Given the description of an element on the screen output the (x, y) to click on. 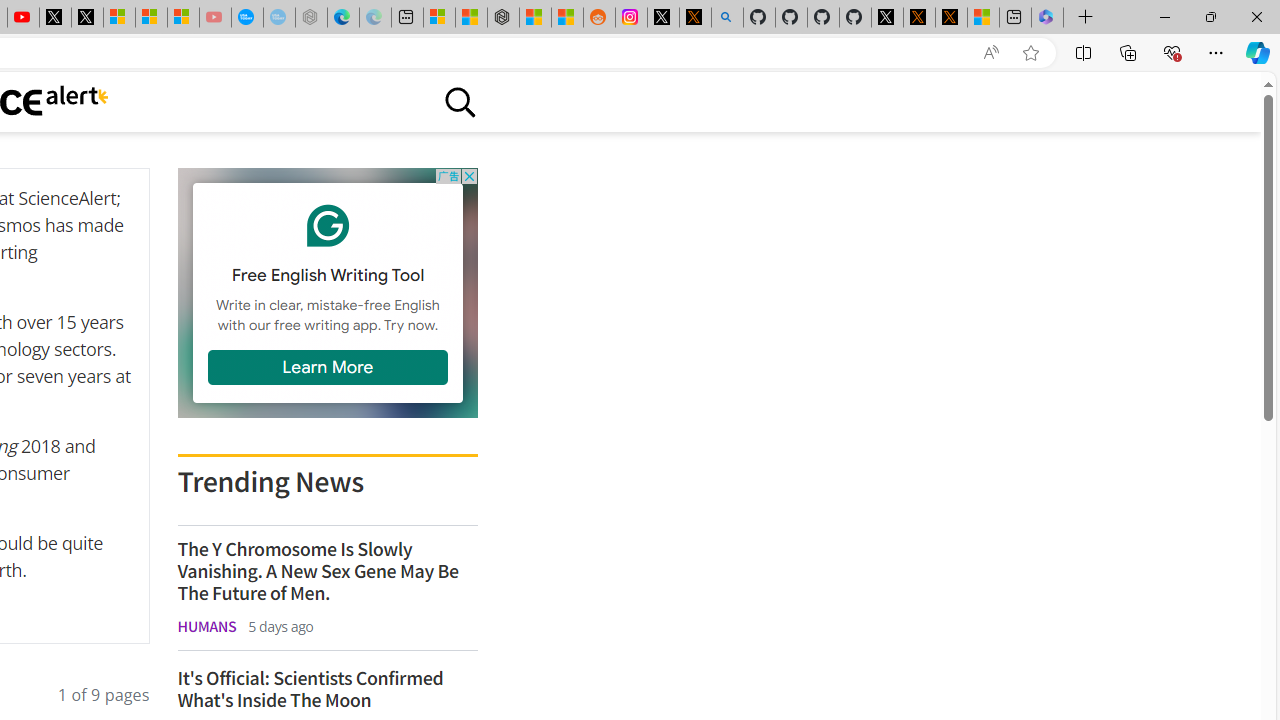
Gloom - YouTube - Sleeping (215, 17)
The most popular Google 'how to' searches - Sleeping (279, 17)
Opinion: Op-Ed and Commentary - USA TODAY (246, 17)
